Given the description of an element on the screen output the (x, y) to click on. 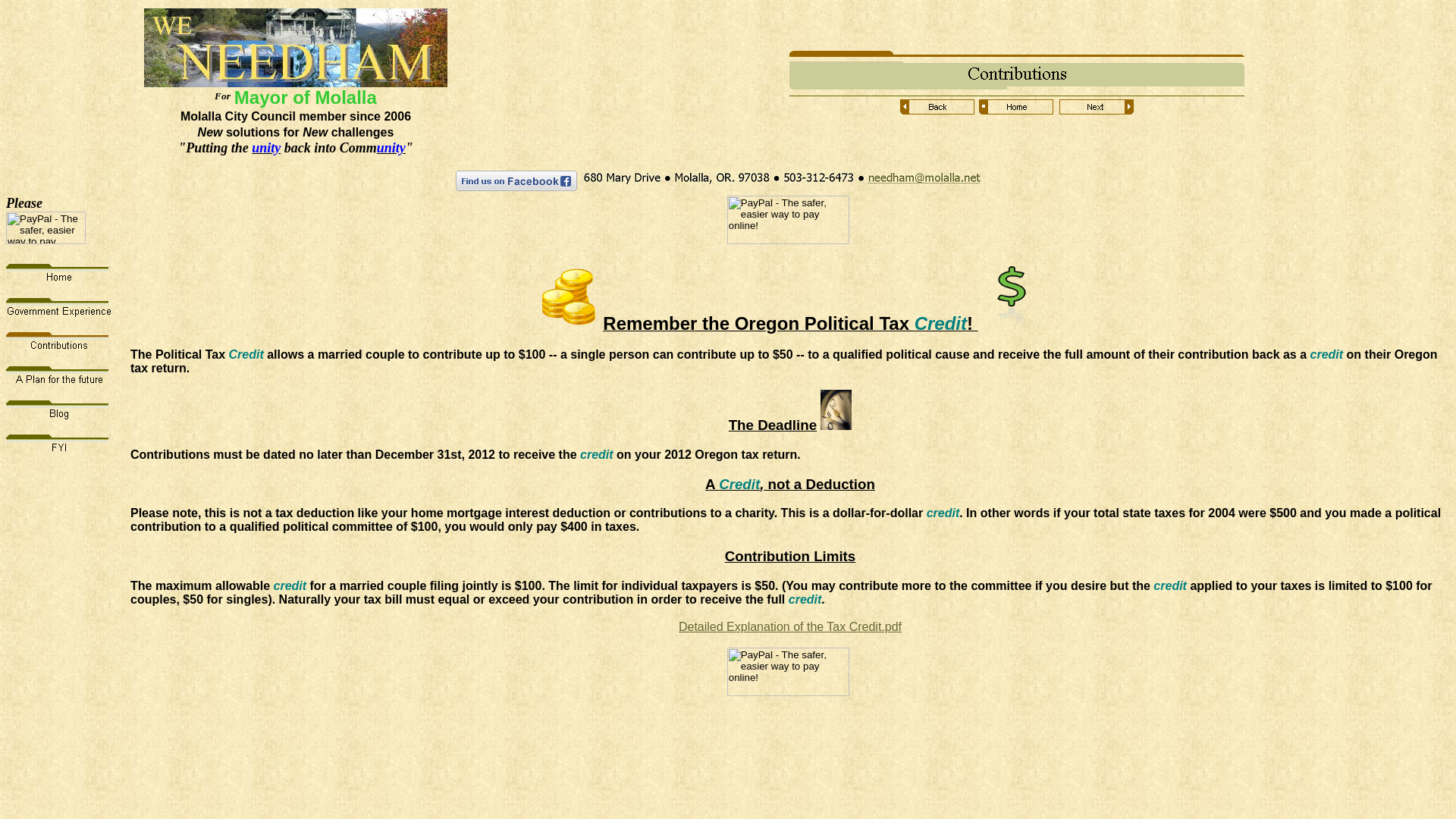
Detailed Explanation of the Tax Credit.pdf Element type: text (789, 626)
